Given the description of an element on the screen output the (x, y) to click on. 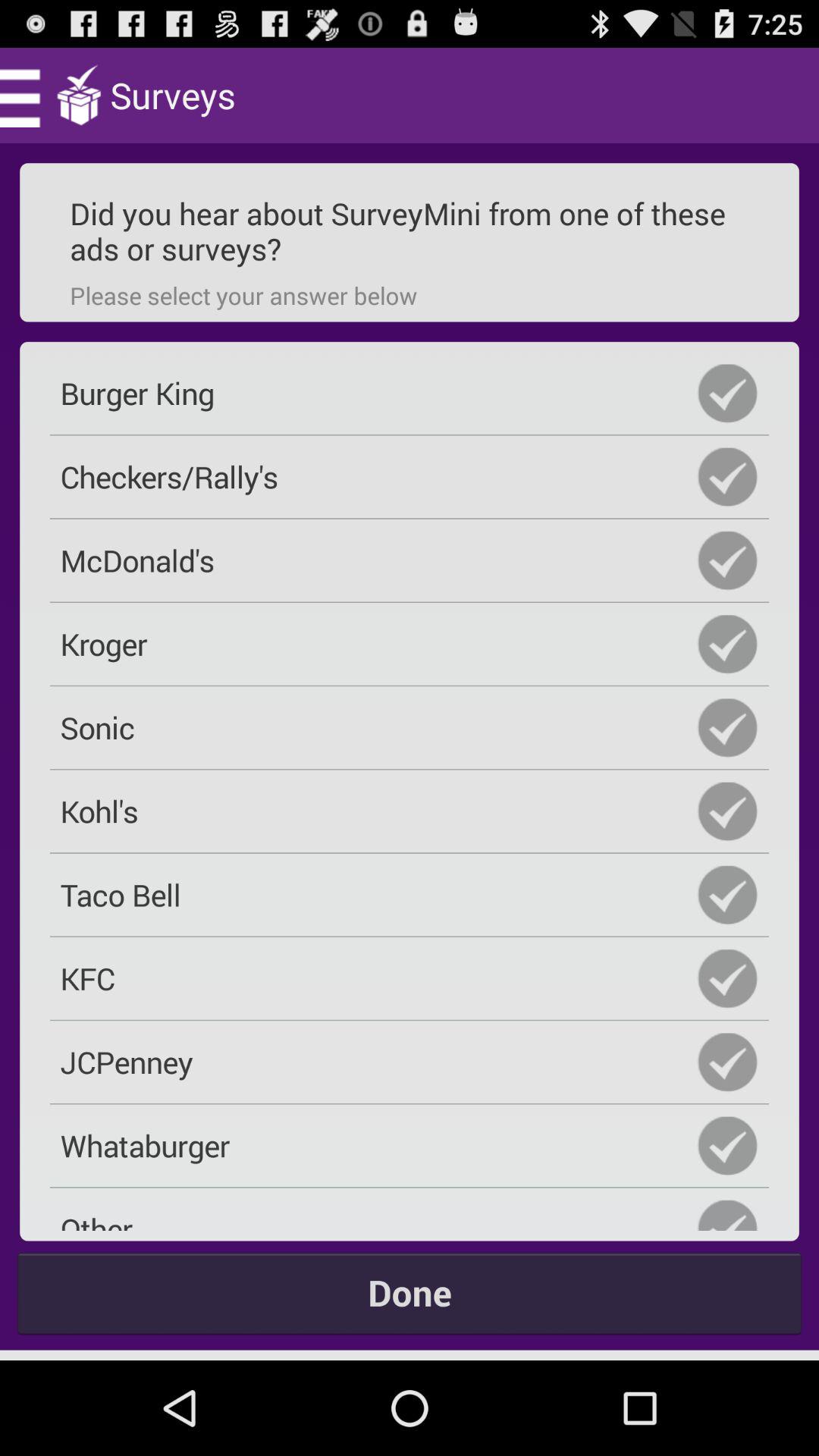
jump until sonic item (409, 727)
